Given the description of an element on the screen output the (x, y) to click on. 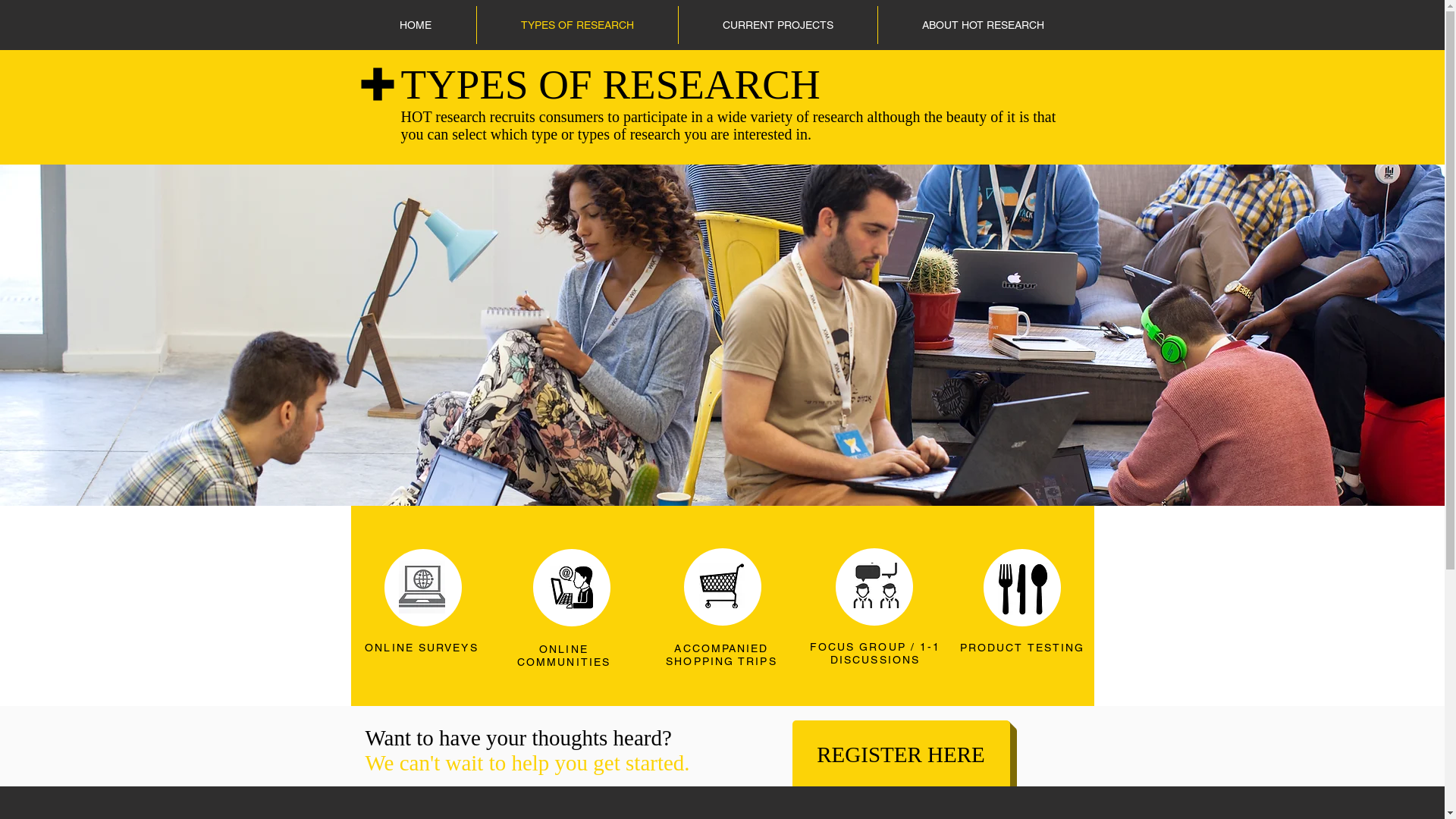
Edited Image 2016-01-29 05-39-43 Element type: hover (1023, 588)
CURRENT PROJECTS Element type: text (776, 24)
Online grey.jpg Element type: hover (421, 586)
REGISTER HERE Element type: text (900, 754)
TYPES OF RESEARCH Element type: text (576, 24)
HOME Element type: text (414, 24)
ABOUT HOT RESEARCH Element type: text (983, 24)
